Given the description of an element on the screen output the (x, y) to click on. 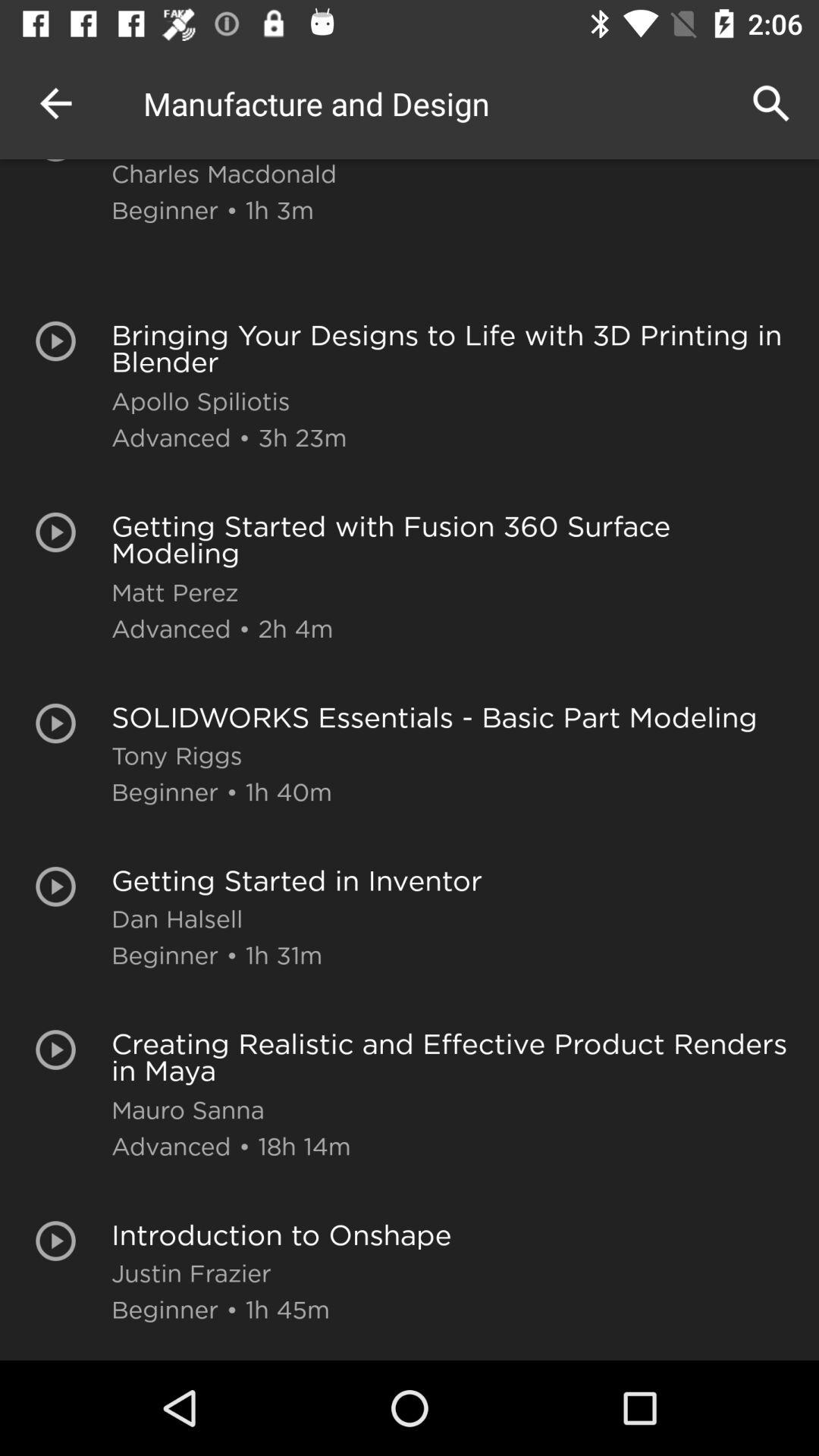
launch the item next to the charles macdonald icon (55, 103)
